Given the description of an element on the screen output the (x, y) to click on. 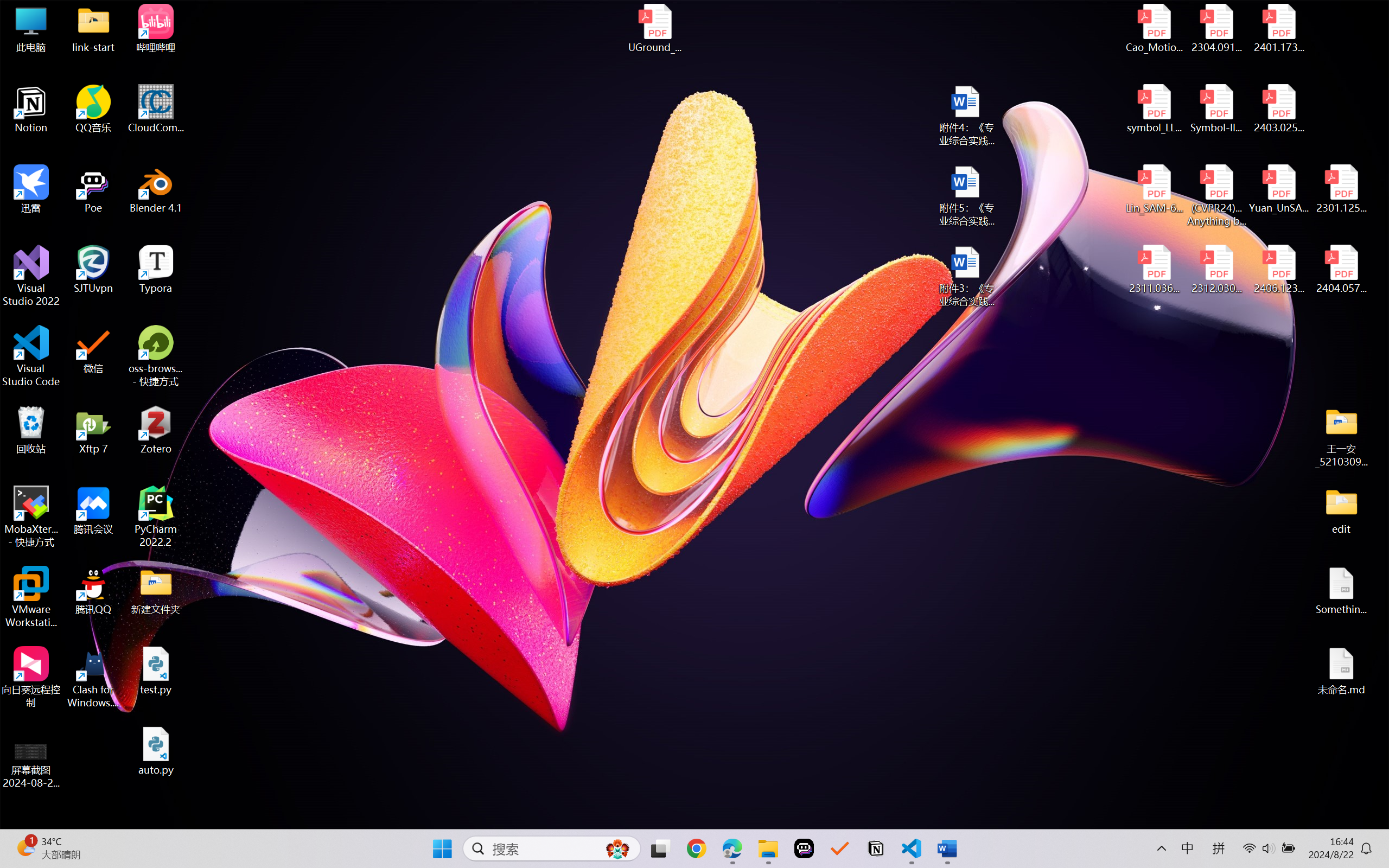
SJTUvpn (93, 269)
edit (1340, 510)
2403.02502v1.pdf (1278, 109)
2406.12373v2.pdf (1278, 269)
Blender 4.1 (156, 189)
